Given the description of an element on the screen output the (x, y) to click on. 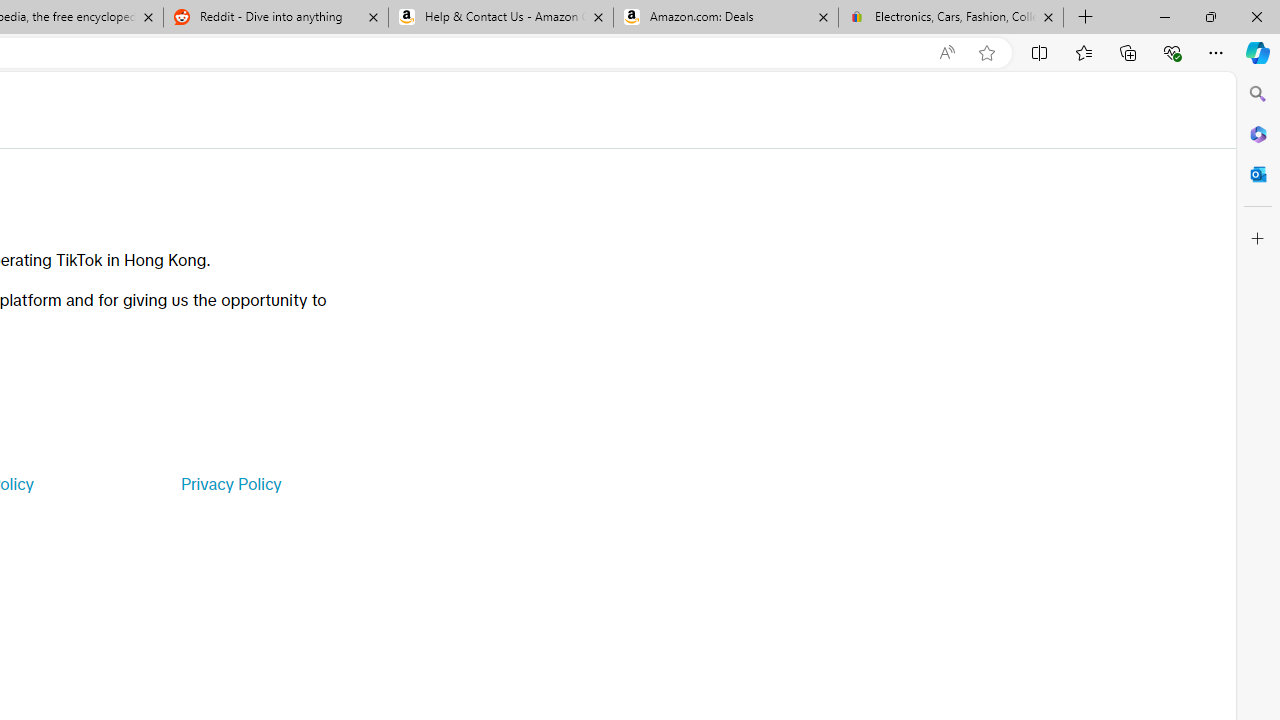
Help & Contact Us - Amazon Customer Service (501, 17)
Amazon.com: Deals (726, 17)
